Given the description of an element on the screen output the (x, y) to click on. 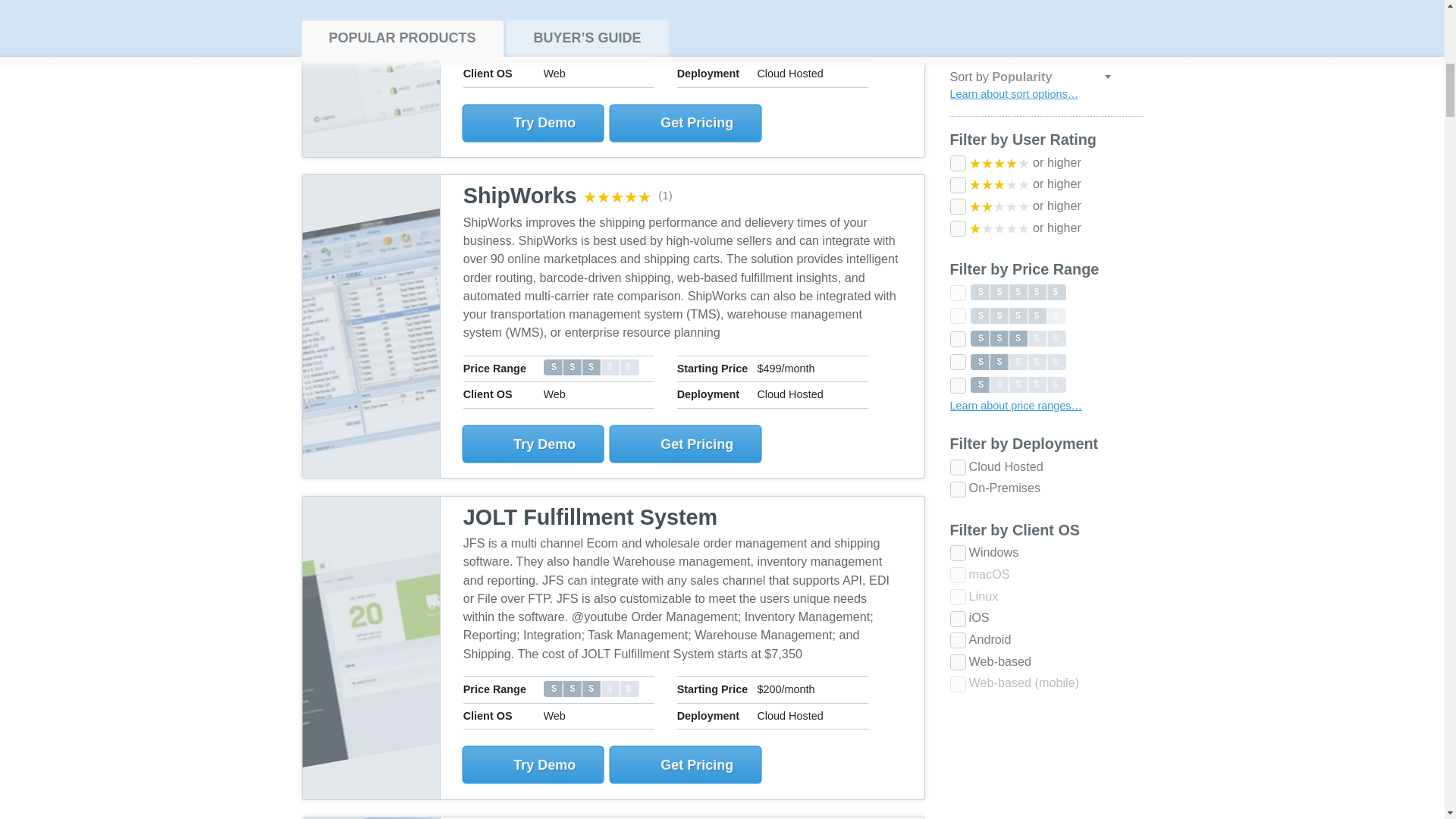
web (957, 163)
windows (957, 54)
webMobile (957, 186)
linux (957, 98)
iOS (957, 120)
macOS (957, 76)
android (957, 141)
